Given the description of an element on the screen output the (x, y) to click on. 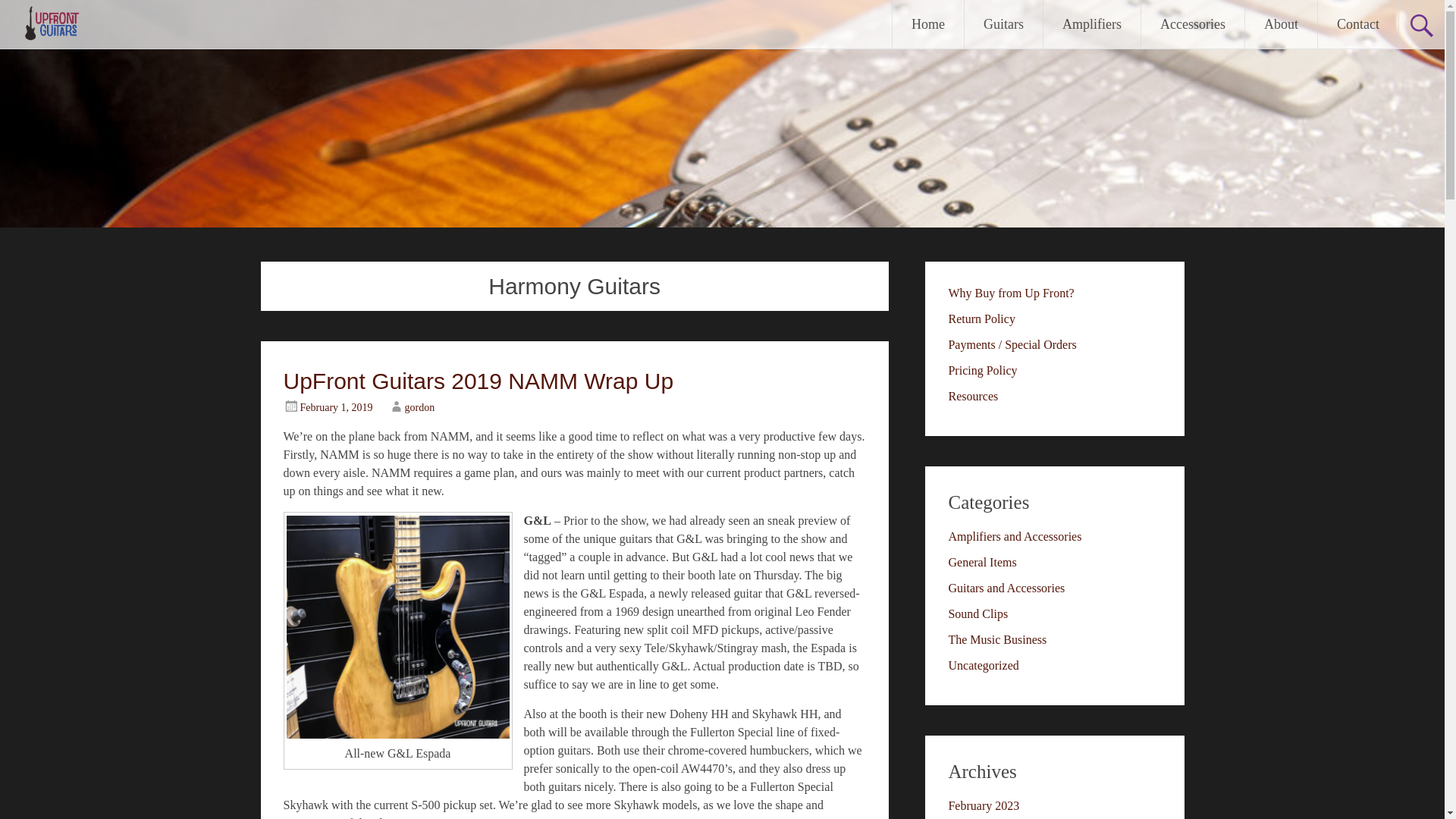
Contact (1357, 24)
Amplifiers (1091, 24)
Pricing Policy (981, 369)
gordon (419, 407)
February 1, 2019 (335, 407)
Home (927, 24)
Why Buy from Up Front? (1010, 292)
Resources (972, 395)
UpFront Guitars and Music LLC (51, 31)
About (1280, 24)
